Given the description of an element on the screen output the (x, y) to click on. 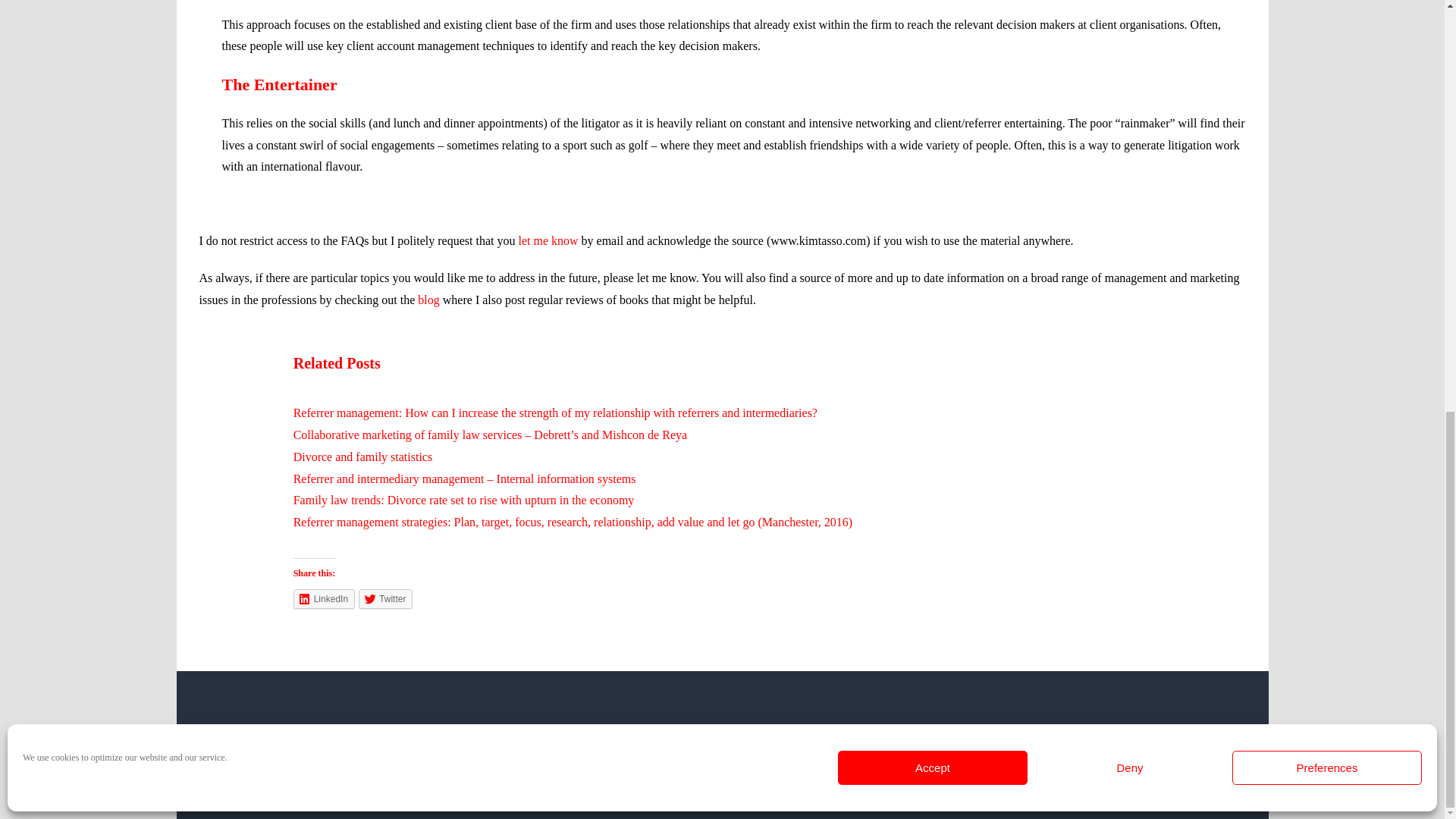
Click to share on LinkedIn (324, 598)
Click to share on Twitter (385, 598)
